Given the description of an element on the screen output the (x, y) to click on. 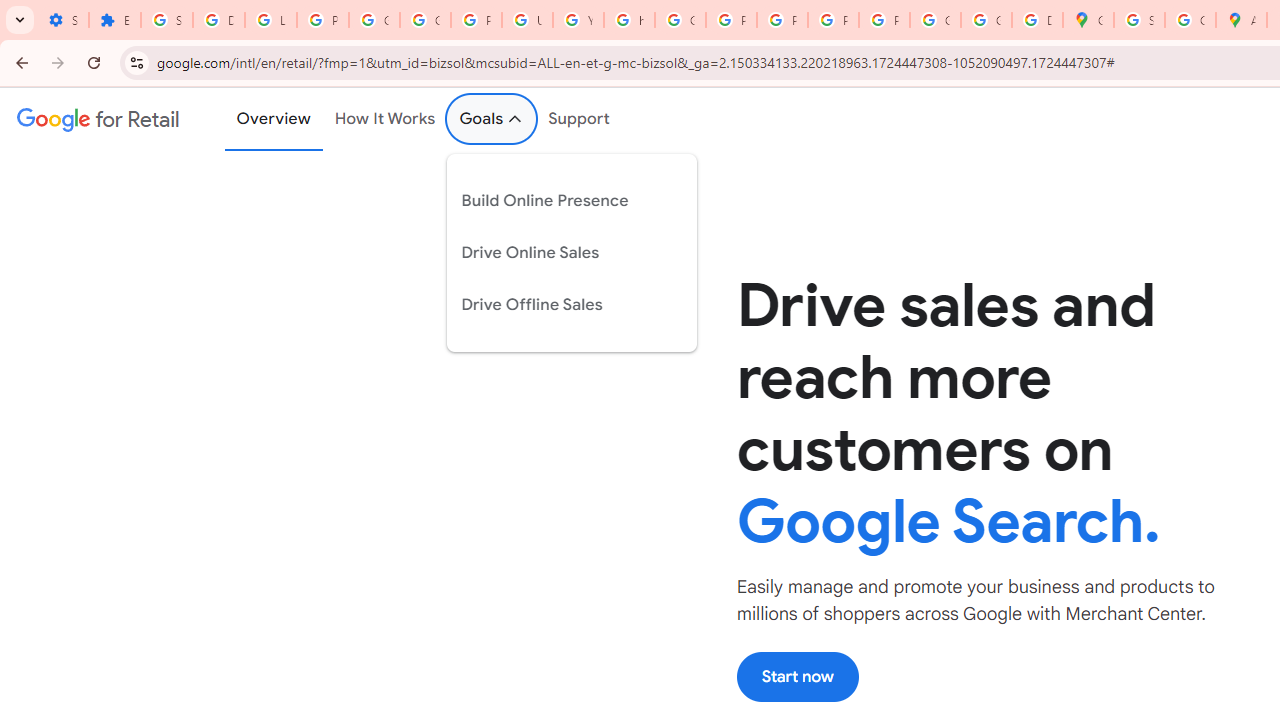
Drive Offline Sales (556, 304)
Delete photos & videos - Computer - Google Photos Help (218, 20)
Start now (797, 676)
Sign in - Google Accounts (1138, 20)
https://scholar.google.com/ (629, 20)
Create your Google Account (1189, 20)
YouTube (578, 20)
Support (579, 119)
Sign in - Google Accounts (166, 20)
